Given the description of an element on the screen output the (x, y) to click on. 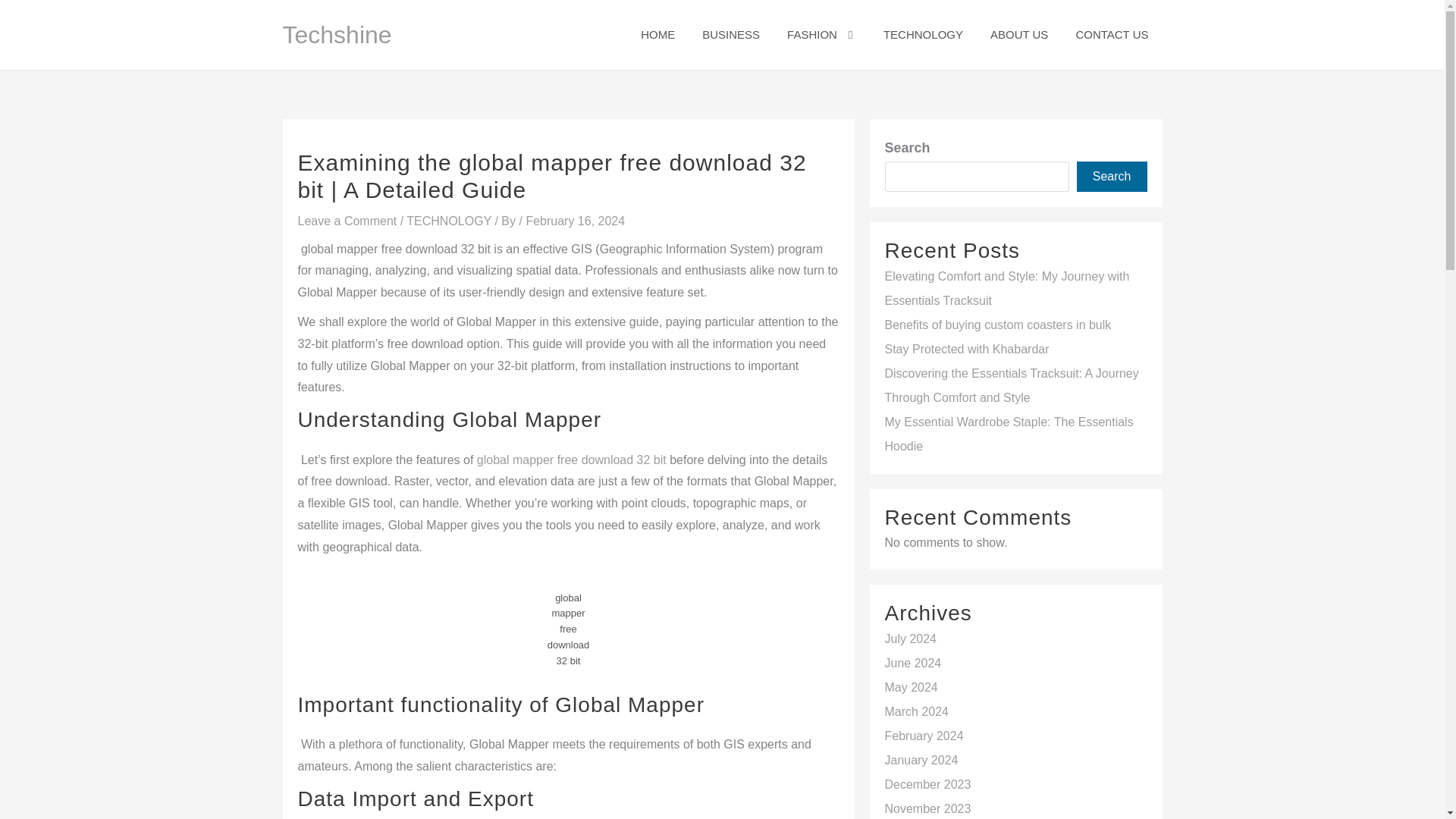
January 2024 (920, 759)
November 2023 (927, 808)
Leave a Comment (346, 220)
ABOUT US (1018, 34)
May 2024 (910, 686)
HOME (657, 34)
December 2023 (927, 784)
Search (1112, 176)
June 2024 (911, 662)
March 2024 (916, 711)
Techshine (336, 34)
FASHION (821, 34)
Stay Protected with Khabardar (965, 349)
Benefits of buying custom coasters in bulk (996, 324)
TECHNOLOGY (922, 34)
